Given the description of an element on the screen output the (x, y) to click on. 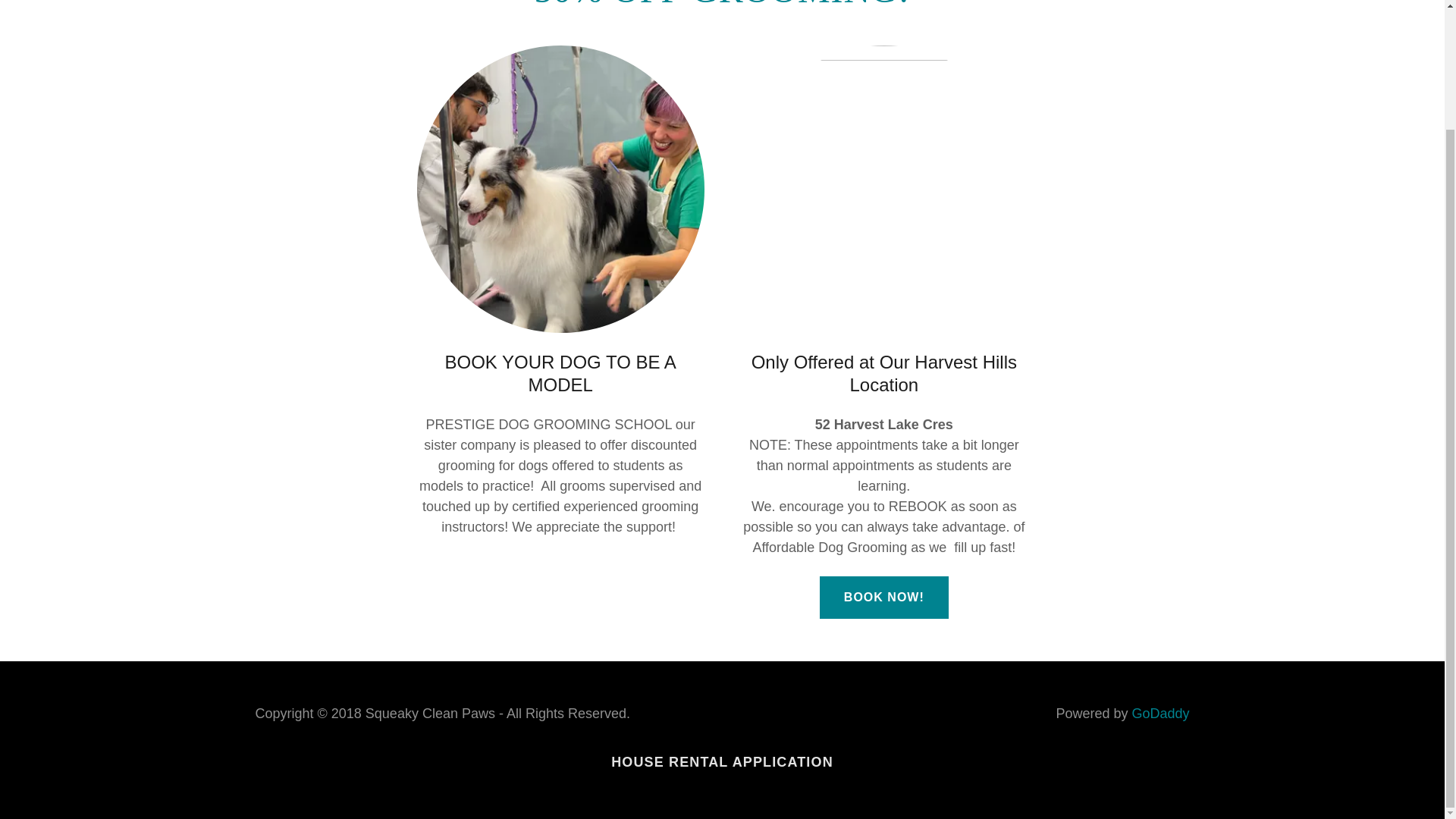
HOUSE RENTAL APPLICATION (722, 762)
GoDaddy (1160, 713)
BOOK NOW! (884, 597)
